Given the description of an element on the screen output the (x, y) to click on. 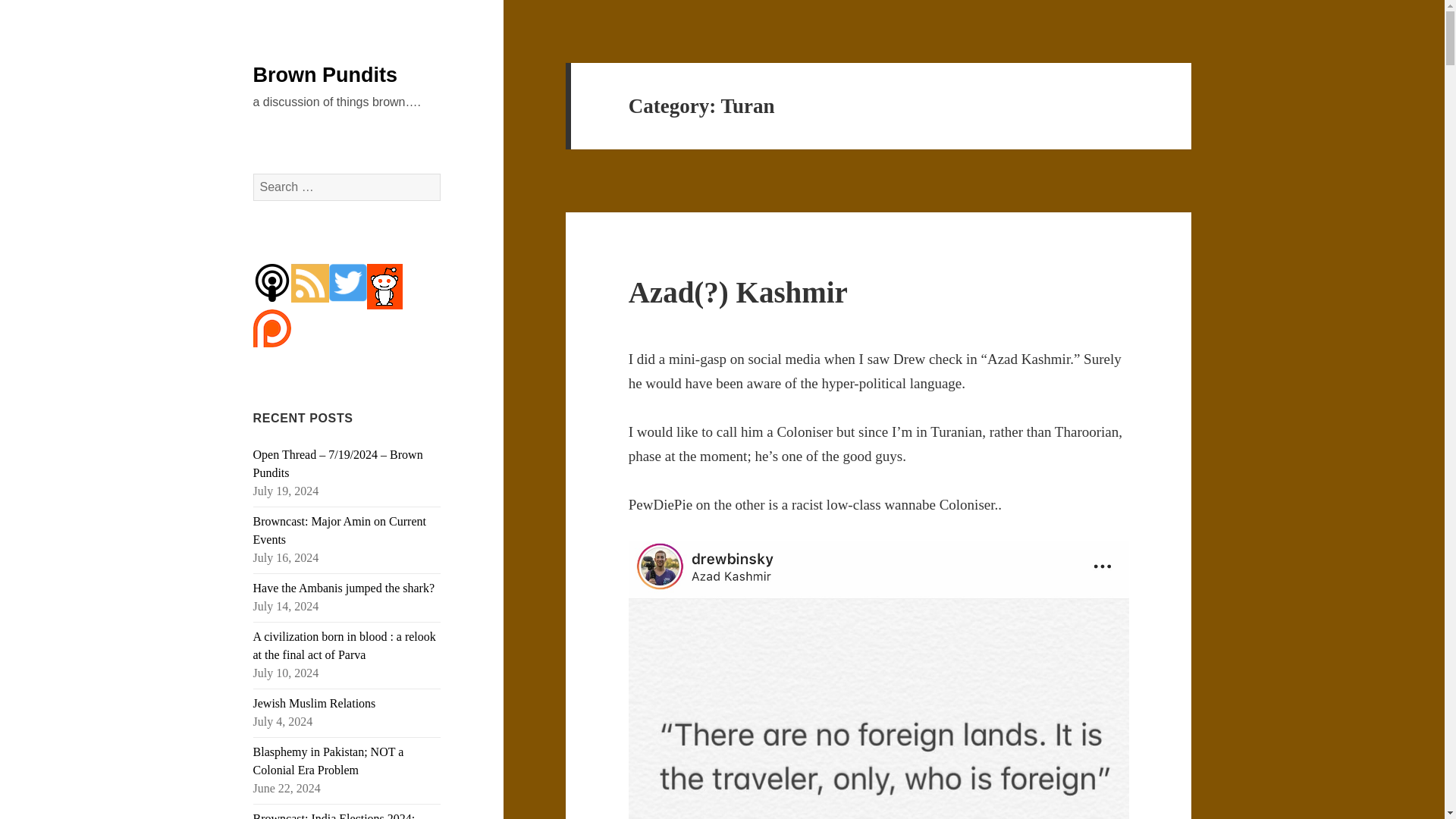
Browncast: India Elections 2024; Ashvamedha Interrupted (333, 815)
Have the Ambanis jumped the shark? (344, 587)
Blasphemy in Pakistan; NOT a Colonial Era Problem (328, 760)
Jewish Muslim Relations (314, 703)
Browncast: Major Amin on Current Events (339, 530)
Brown Pundits (325, 74)
